Given the description of an element on the screen output the (x, y) to click on. 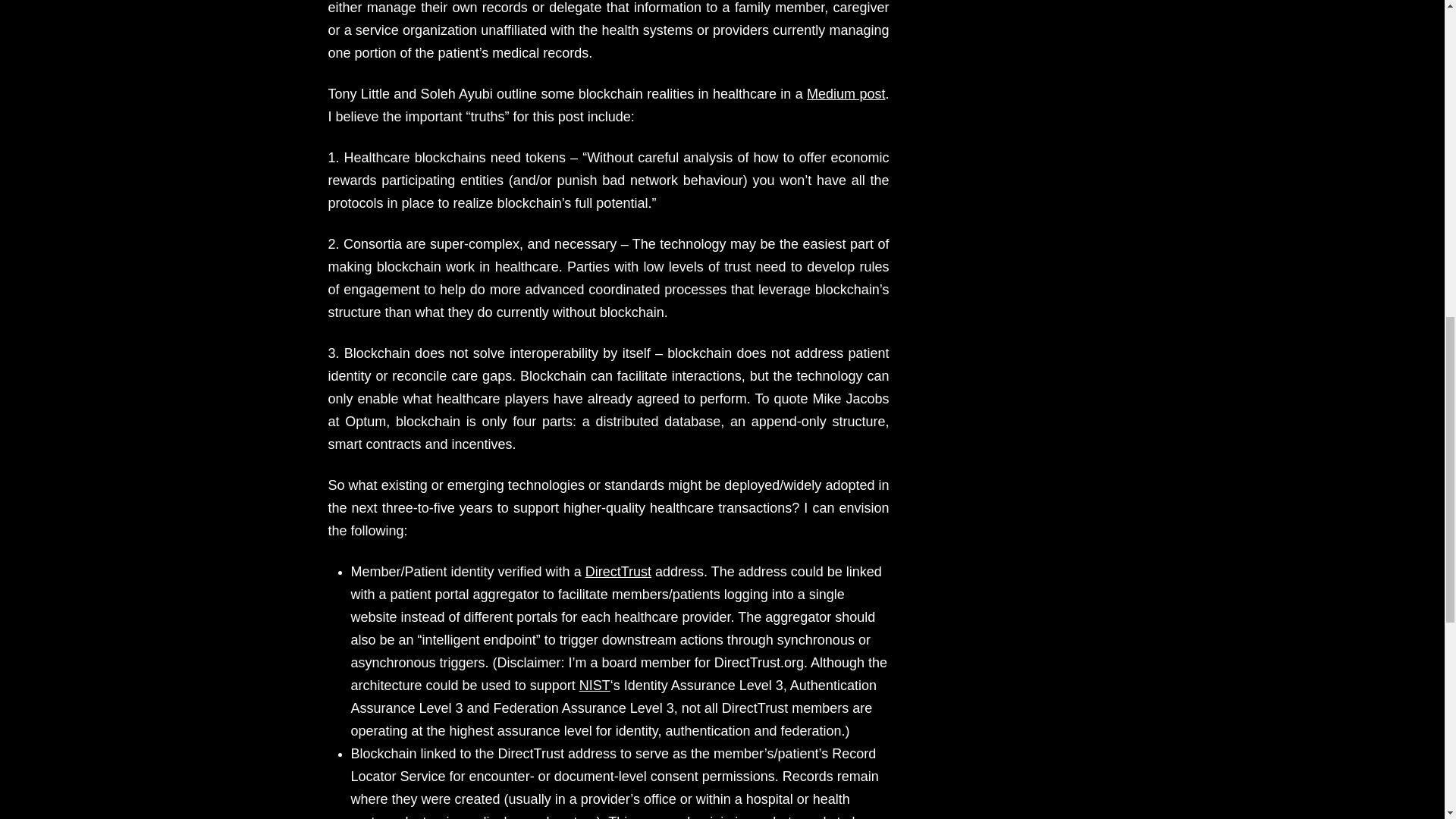
NIST (594, 685)
Medium post (845, 93)
DirectTrust (617, 571)
